Given the description of an element on the screen output the (x, y) to click on. 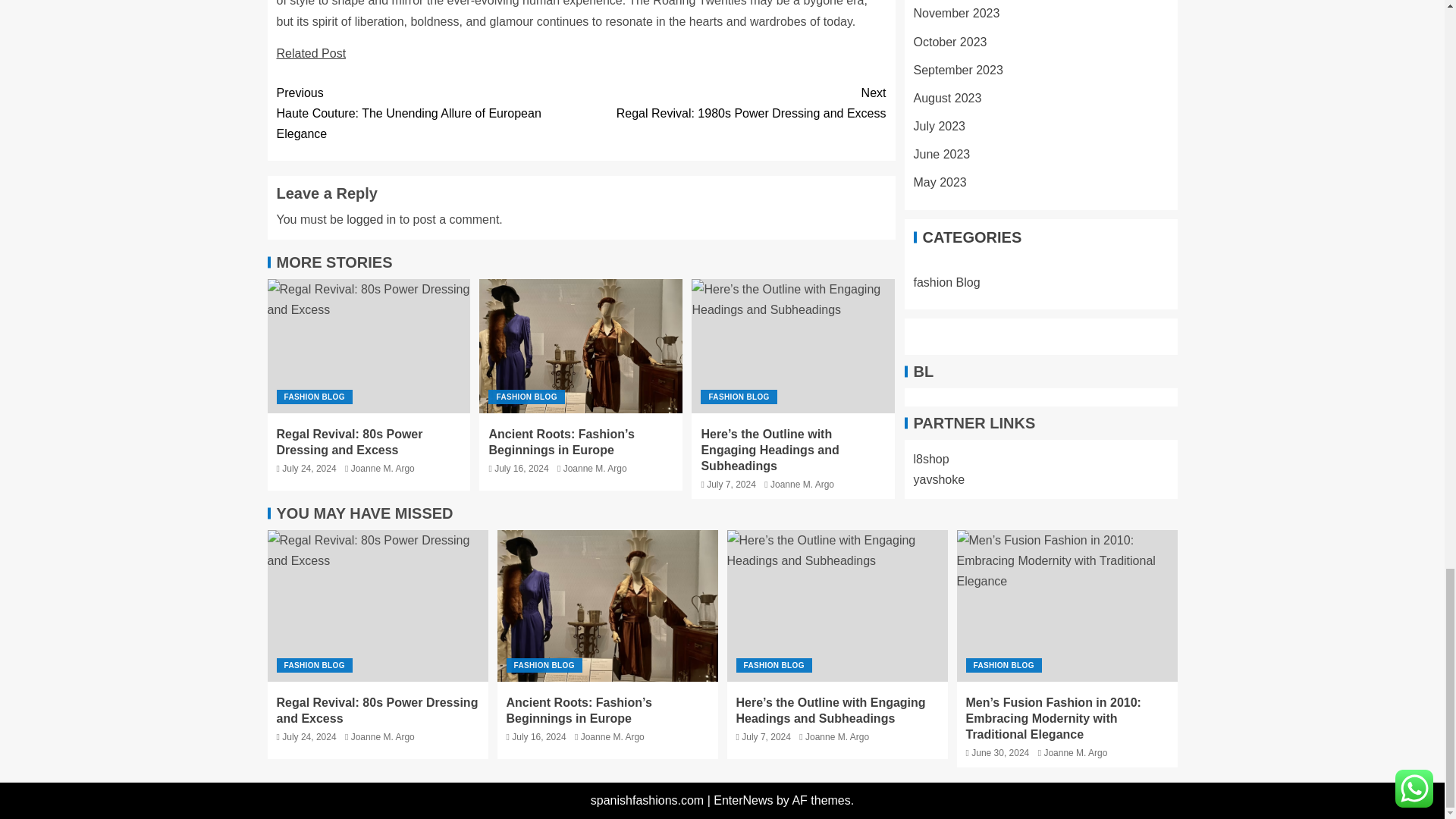
Regal Revival: 80s Power Dressing and Excess (368, 346)
Joanne M. Argo (595, 468)
FASHION BLOG (314, 396)
FASHION BLOG (525, 396)
FASHION BLOG (738, 396)
Regal Revival: 80s Power Dressing and Excess (349, 441)
Related Post (732, 102)
Joanne M. Argo (311, 52)
logged in (382, 468)
Regal Revival: 80s Power Dressing and Excess (371, 219)
